Given the description of an element on the screen output the (x, y) to click on. 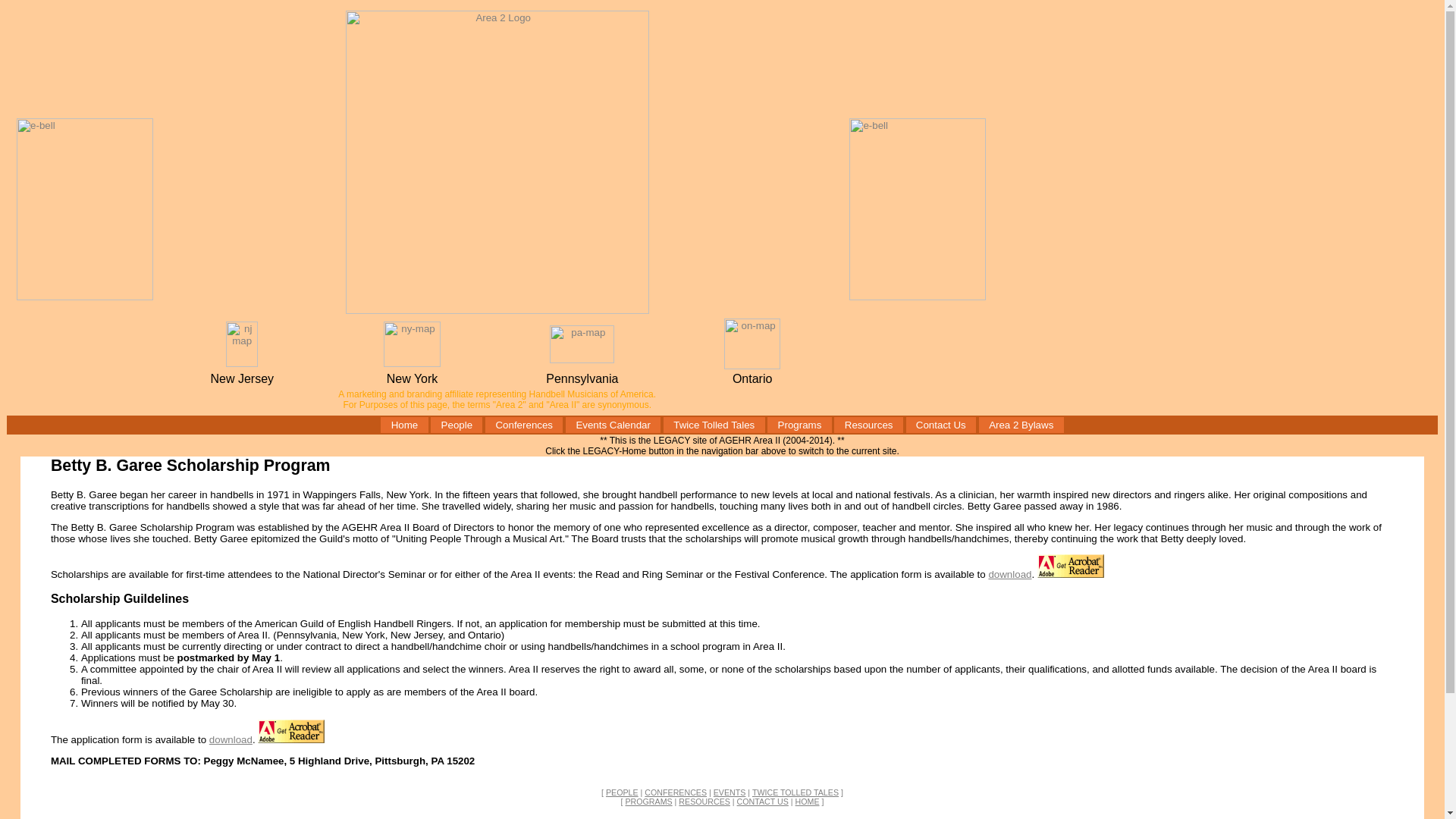
Events Calendar (613, 424)
People (455, 424)
CONFERENCES (675, 791)
nj-map (241, 363)
CONTACT US (762, 800)
TWICE TOLLED TALES (795, 791)
Contact Us (940, 424)
a2-hma-logo (84, 296)
Resources (868, 424)
nj-map1 (497, 310)
